Given the description of an element on the screen output the (x, y) to click on. 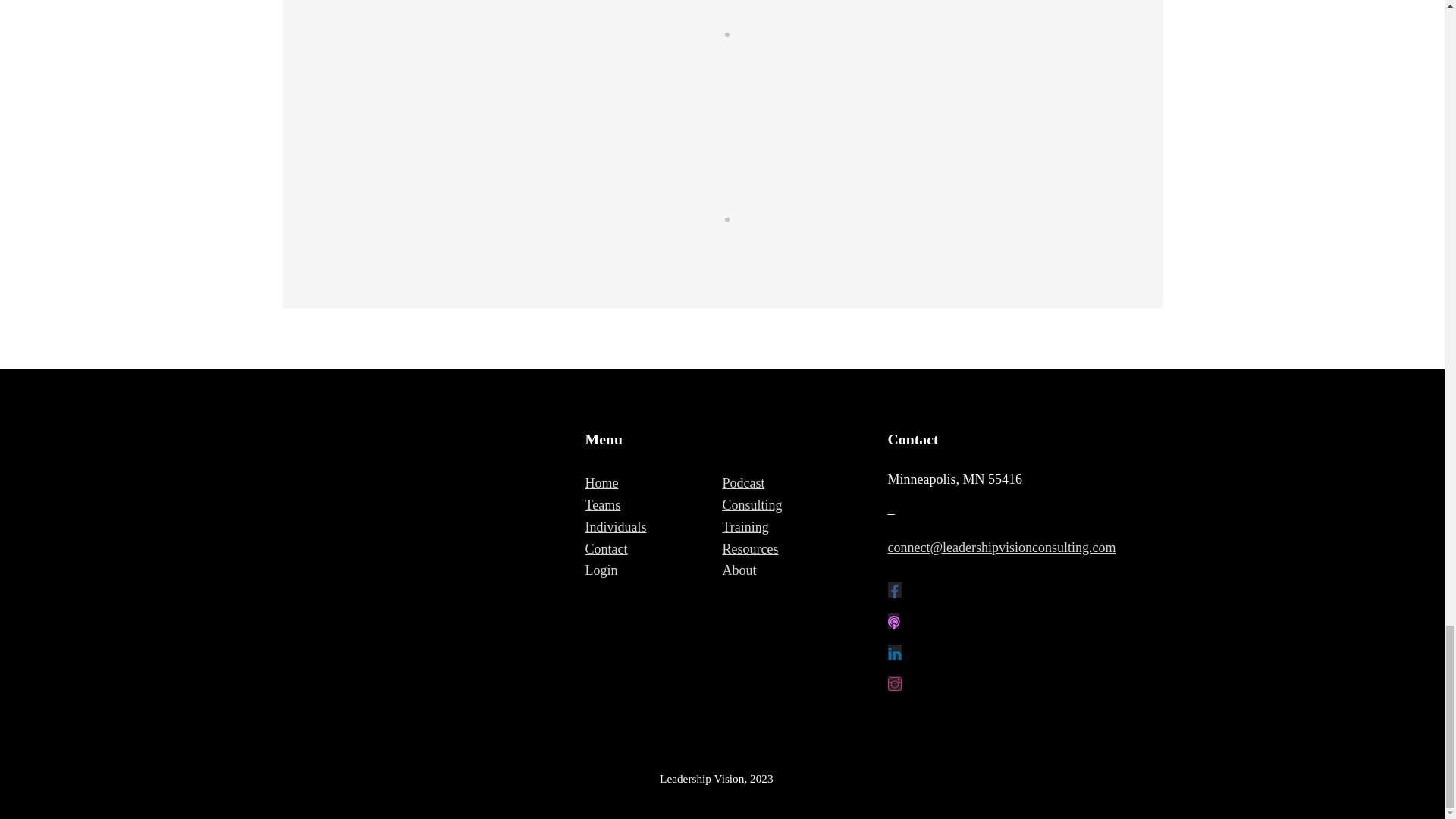
Home (601, 482)
About (738, 570)
Consulting (751, 504)
Teams (603, 504)
Login (601, 570)
Training (745, 526)
Individuals (615, 526)
Podcast (743, 482)
Contact (606, 548)
Resources (749, 548)
